Given the description of an element on the screen output the (x, y) to click on. 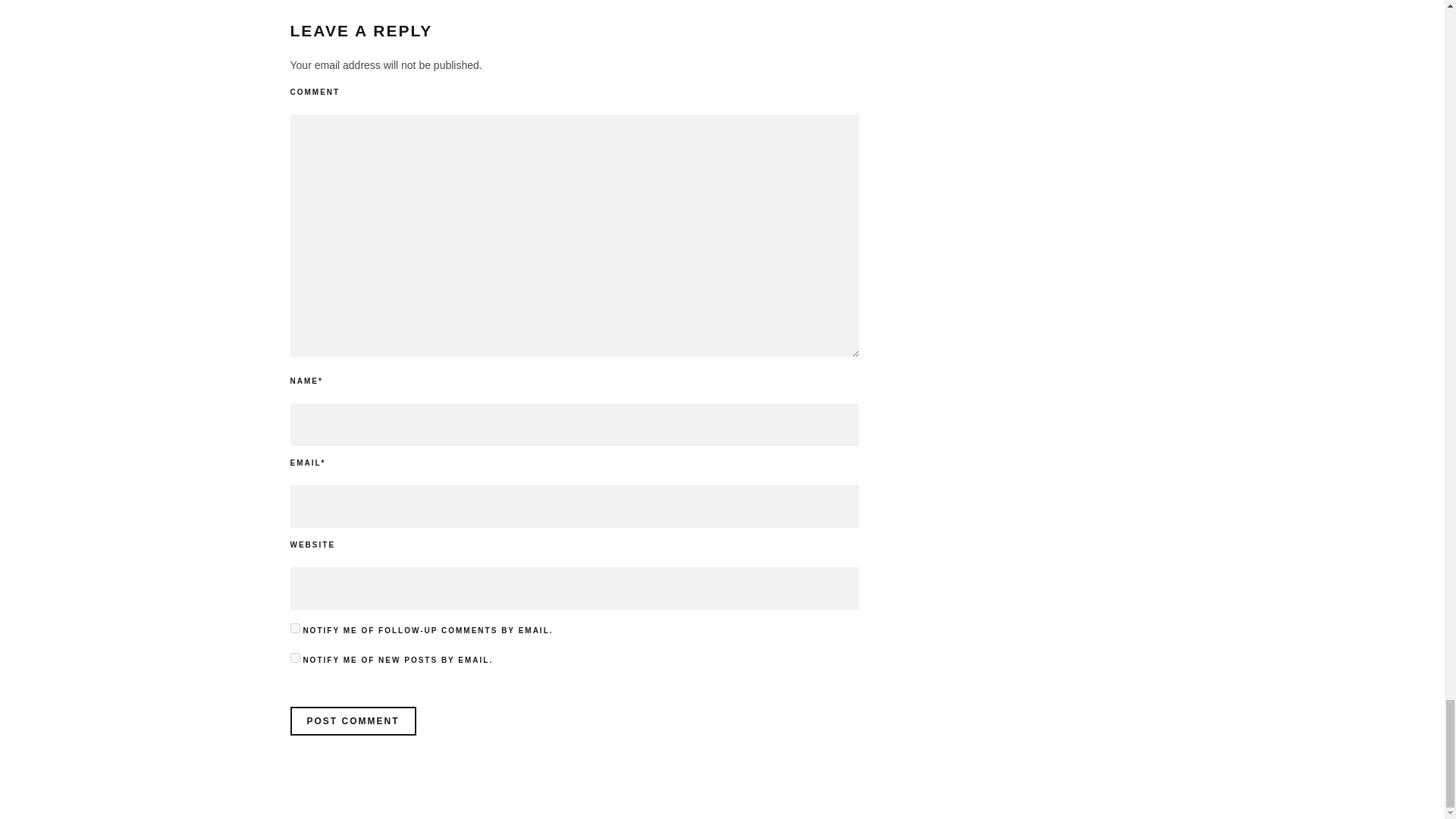
subscribe (294, 628)
subscribe (294, 657)
Post Comment (351, 720)
